Given the description of an element on the screen output the (x, y) to click on. 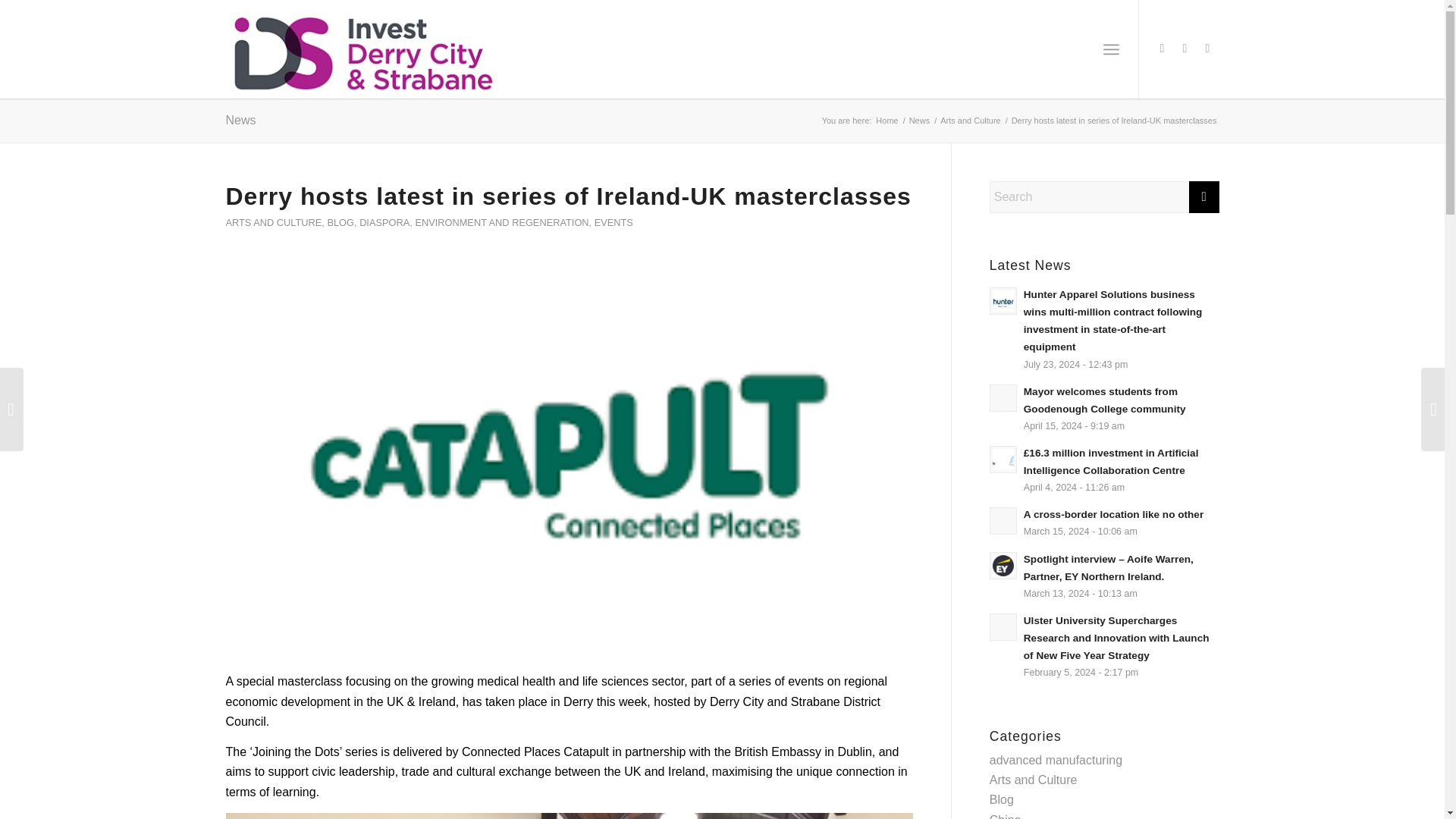
Permanent Link: News (240, 119)
EVENTS (613, 222)
LinkedIn (1208, 47)
News (920, 120)
BLOG (339, 222)
Arts and Culture (970, 120)
ENVIRONMENT AND REGENERATION (501, 222)
Invest Derry Strabane (886, 120)
DIASPORA (384, 222)
News (240, 119)
